Given the description of an element on the screen output the (x, y) to click on. 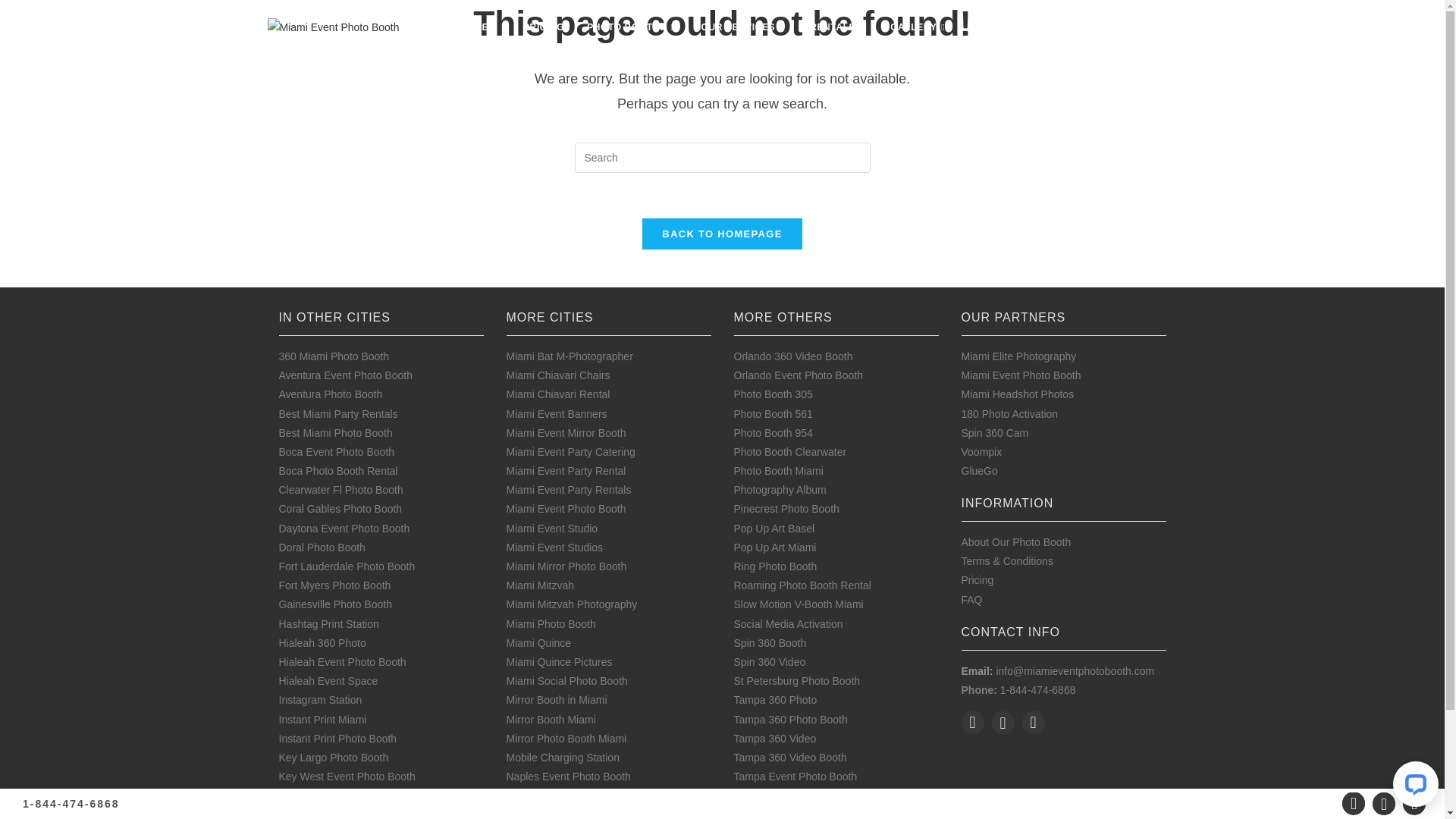
info@miamieventphotobooth.com Element type: text (1074, 671)
Photo Booth 954 Element type: text (773, 432)
Tampa 360 Photo Booth Element type: text (790, 719)
Aventura Photo Booth Element type: text (330, 394)
Boca Photo Booth Rental Element type: text (338, 470)
Photo Booth 305 Element type: text (773, 394)
Liv 305 Miami Element type: text (311, 795)
Photo Booth Clearwater Element type: text (790, 451)
About Our Photo Booth Element type: text (1016, 542)
Aventura Event Photo Booth Element type: text (345, 375)
Roaming Photo Booth Rental Element type: text (802, 585)
Hialeah Event Space Element type: text (328, 680)
Tampa 360 Video Booth Element type: text (790, 757)
Boca Event Photo Booth Element type: text (337, 451)
Miami Event Photo Booth Element type: text (1021, 375)
GlueGo Element type: text (979, 470)
U 305 Element type: text (748, 795)
Miami Headshot Photos Element type: text (1017, 394)
BACK TO HOMEPAGE Element type: text (721, 233)
FAQ Element type: text (971, 599)
1-844-474-6868 Element type: text (1038, 690)
Best Miami Party Rentals Element type: text (338, 413)
Photography Album Element type: text (780, 489)
Terms & Conditions Element type: text (1007, 561)
Orlando 360 Video Booth Element type: text (793, 356)
Miami Bat M-Photographer Element type: text (569, 356)
Miami Event Party Catering Element type: text (570, 451)
Instant Print Photo Booth Element type: text (338, 738)
Miami Event Studios Element type: text (554, 547)
Key Largo Photo Booth Element type: text (334, 757)
Miami Quince Pictures Element type: text (559, 661)
Hialeah 360 Photo Element type: text (322, 643)
Hialeah Event Photo Booth Element type: text (342, 661)
Mirror Booth Miami Element type: text (551, 719)
Tampa 360 Photo Element type: text (775, 699)
Miami Event Studio Element type: text (552, 528)
Ring Photo Booth Element type: text (775, 566)
Spin 360 Video Element type: text (770, 661)
St Petersburg Photo Booth Element type: text (797, 680)
Mobile Charging Station Element type: text (562, 757)
Miami Event Photo Booth Element type: text (566, 508)
Gainesville Photo Booth Element type: text (335, 604)
Tampa 360 Video Element type: text (775, 738)
Miami Event Party Rentals Element type: text (568, 489)
Key West Event Photo Booth Element type: text (347, 776)
Hashtag Print Station Element type: text (329, 624)
Best Miami Photo Booth Element type: text (335, 432)
Miami Elite Photography Element type: text (1018, 356)
Pop Up Art Miami Element type: text (775, 547)
1-844-474-6868 Element type: text (70, 803)
Instant Print Miami Element type: text (323, 719)
Pricing Element type: text (977, 580)
Instagram Station Element type: text (320, 699)
Pop Up Art Basel Element type: text (774, 528)
Miami Photo Booth Element type: text (551, 624)
180 Photo Activation Element type: text (1009, 413)
Orlando 360 Photo Element type: text (551, 795)
Miami Chiavari Chairs Element type: text (558, 375)
Fort Myers Photo Booth Element type: text (335, 585)
Miami Quince Element type: text (538, 643)
Miami Event Banners Element type: text (556, 413)
Miami Event Party Rental Element type: text (566, 470)
Naples Event Photo Booth Element type: text (568, 776)
Pinecrest Photo Booth Element type: text (786, 508)
Doral Photo Booth Element type: text (322, 547)
Mirror Booth in Miami Element type: text (556, 699)
Miami Social Photo Booth Element type: text (566, 680)
Orlando Event Photo Booth Element type: text (798, 375)
Slow Motion V-Booth Miami Element type: text (798, 604)
Coral Gables Photo Booth Element type: text (340, 508)
Spin 360 Booth Element type: text (770, 643)
Miami Mitzvah Photography Element type: text (571, 604)
Daytona Event Photo Booth Element type: text (344, 528)
Social Media Activation Element type: text (788, 624)
Photo Booth Miami Element type: text (778, 470)
Clearwater Fl Photo Booth Element type: text (341, 489)
Miami Mirror Photo Booth Element type: text (566, 566)
Miami Chiavari Rental Element type: text (558, 394)
360 Miami Photo Booth Element type: text (334, 356)
Miami Mitzvah Element type: text (540, 585)
Voompix Element type: text (981, 451)
Tampa Event Photo Booth Element type: text (795, 776)
Photo Booth 561 Element type: text (773, 413)
Mirror Photo Booth Miami Element type: text (566, 738)
Miami Event Mirror Booth Element type: text (566, 432)
Spin 360 Cam Element type: text (995, 432)
Fort Lauderdale Photo Booth Element type: text (347, 566)
